Given the description of an element on the screen output the (x, y) to click on. 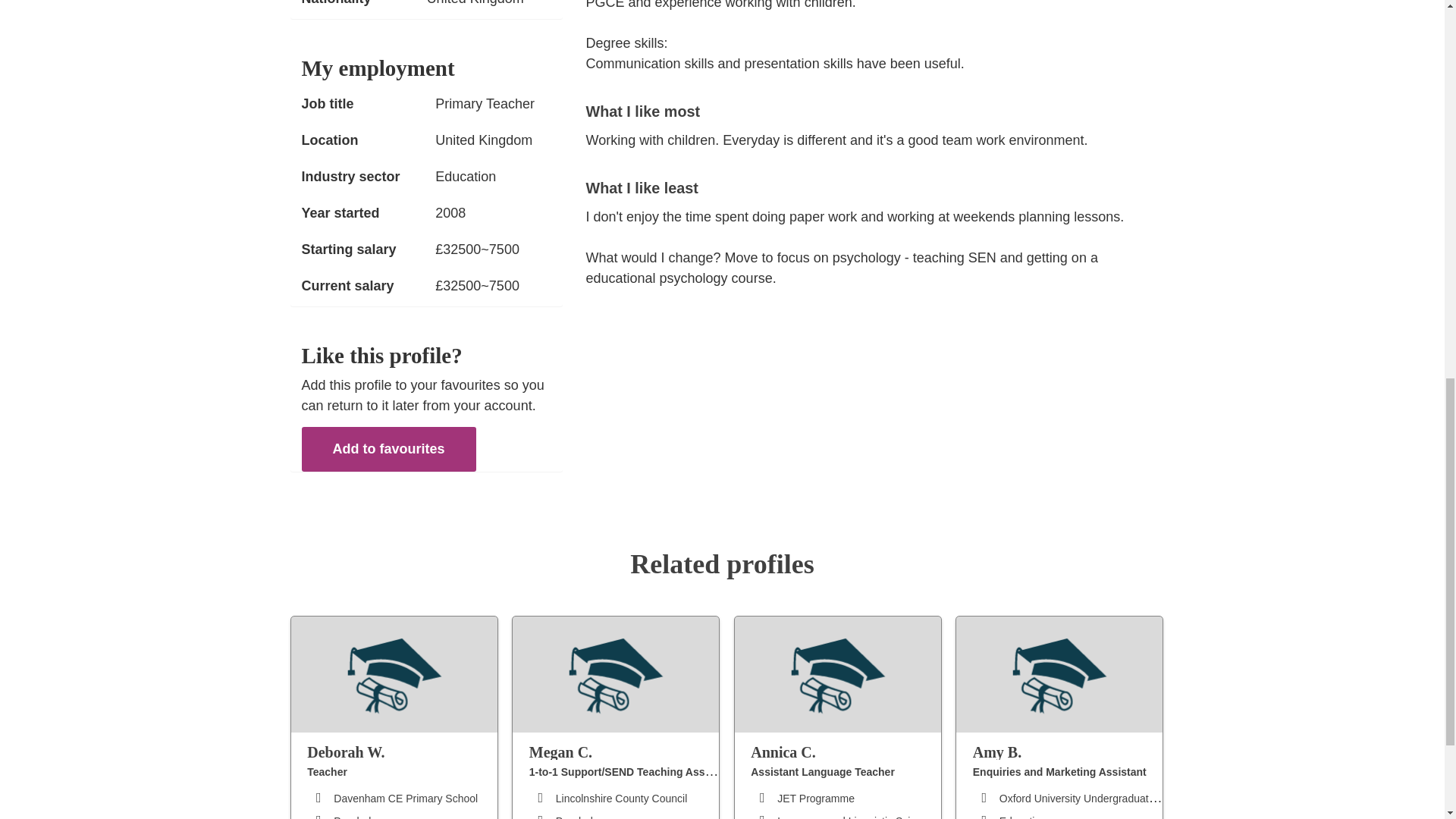
Lincolnshire County Council (621, 798)
Megan C. (624, 751)
Annica C. (845, 751)
Psychology (360, 816)
Teacher (327, 771)
Deborah W. (401, 751)
Davenham CE Primary School (405, 798)
Psychology (583, 816)
